Given the description of an element on the screen output the (x, y) to click on. 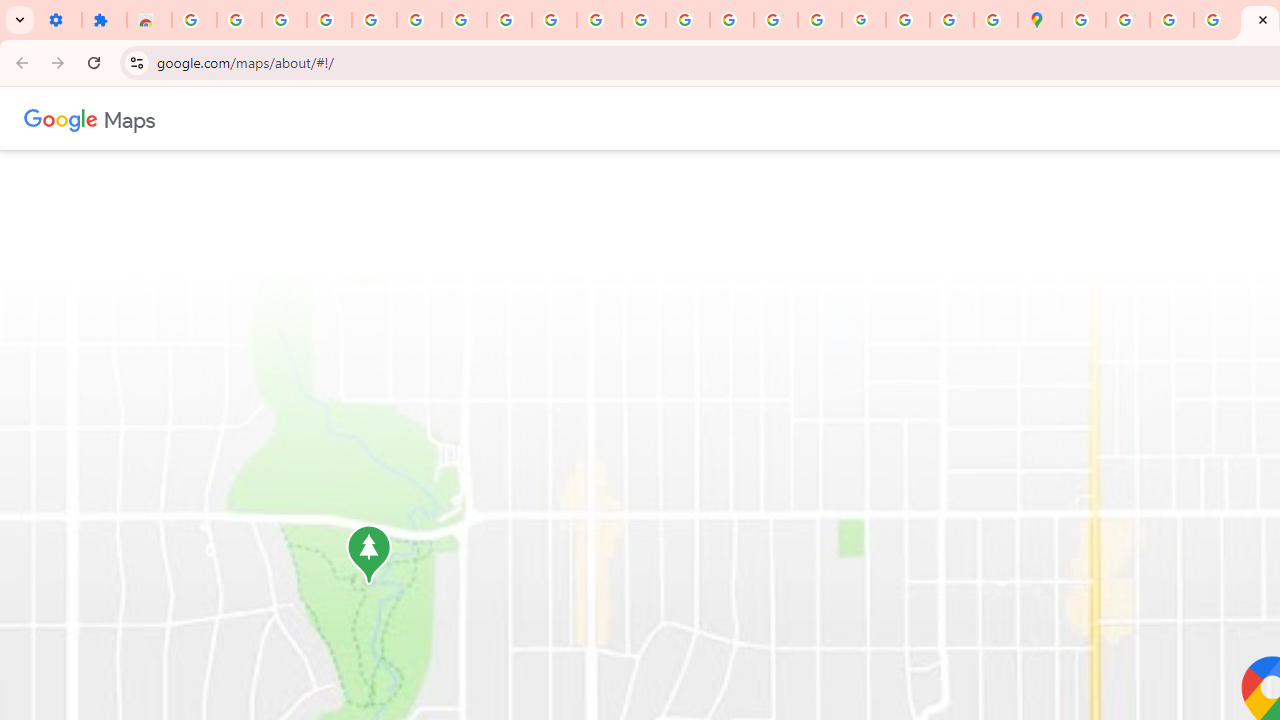
Privacy Help Center - Policies Help (687, 20)
